Given the description of an element on the screen output the (x, y) to click on. 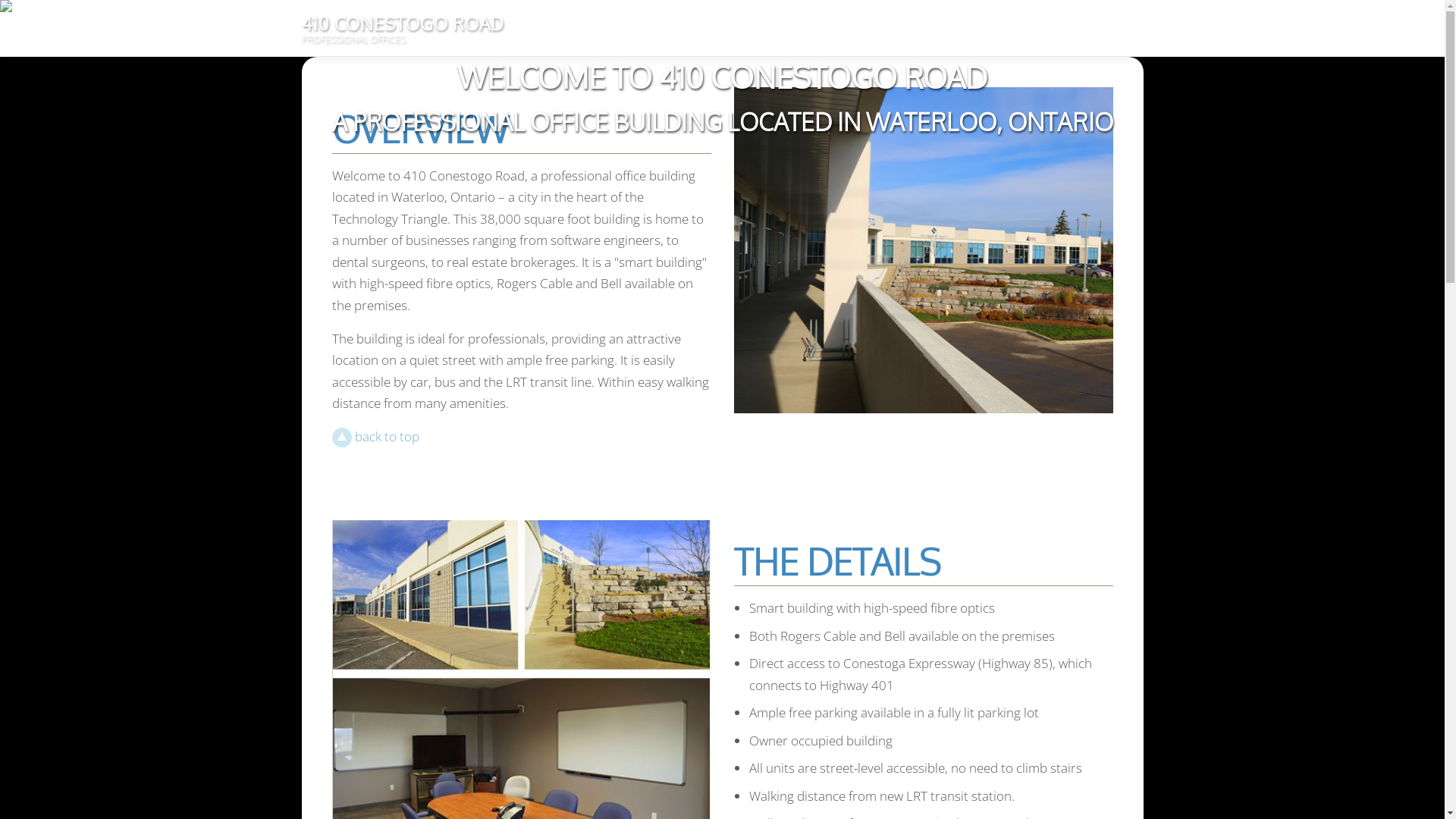
HOME Element type: text (789, 28)
CONTACT Element type: text (1112, 28)
410 CONESTOGO ROAD Element type: text (402, 23)
OVERVIEW Element type: text (857, 28)
DETAILS Element type: text (931, 28)
AVAILABLE SPACE Element type: text (1023, 28)
back to top Element type: text (375, 436)
